Given the description of an element on the screen output the (x, y) to click on. 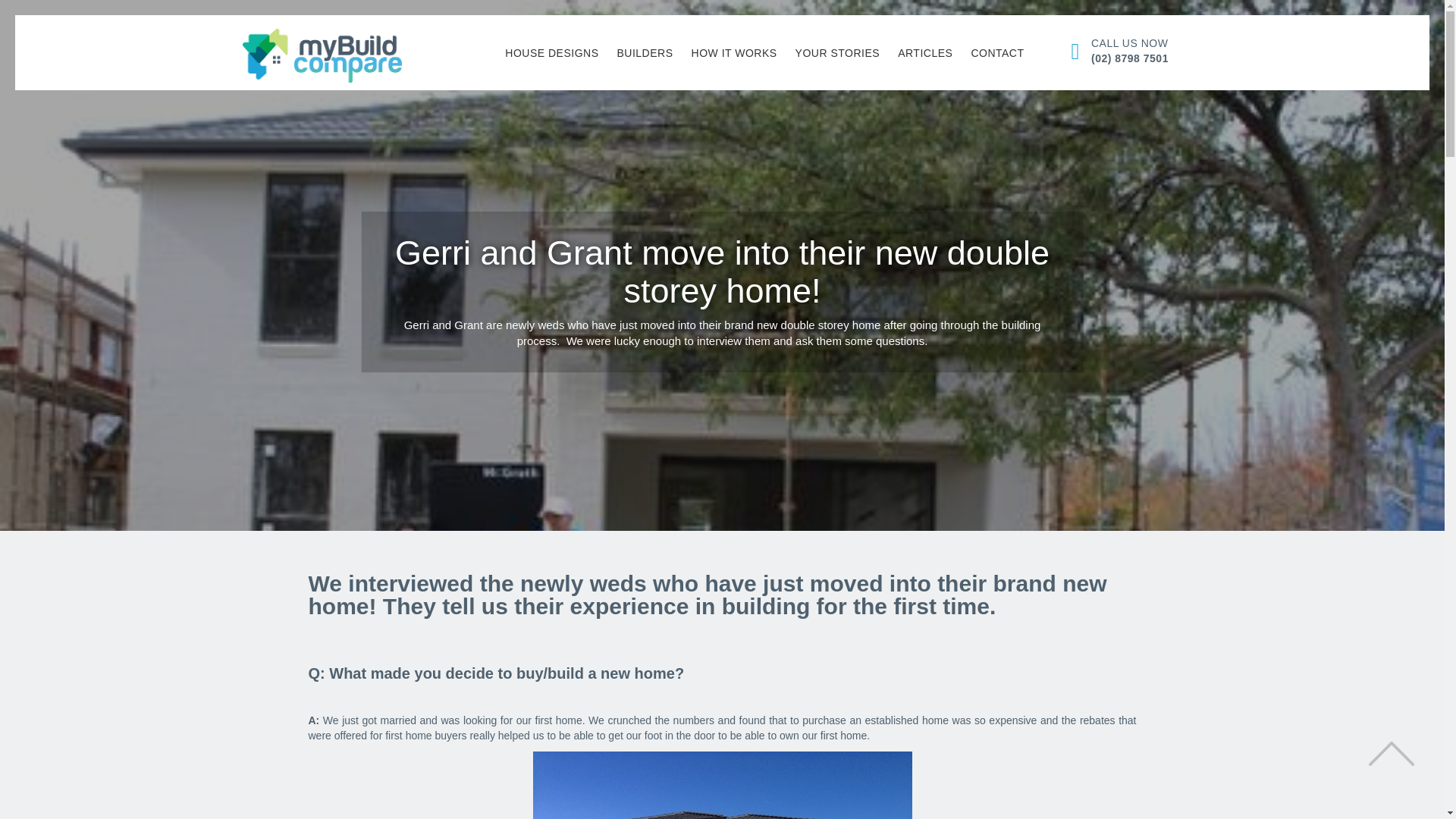
HOUSE DESIGNS (551, 53)
YOUR STORIES (837, 53)
CONTACT (996, 53)
BUILDERS (645, 53)
HOW IT WORKS (734, 53)
ARTICLES (924, 53)
